Given the description of an element on the screen output the (x, y) to click on. 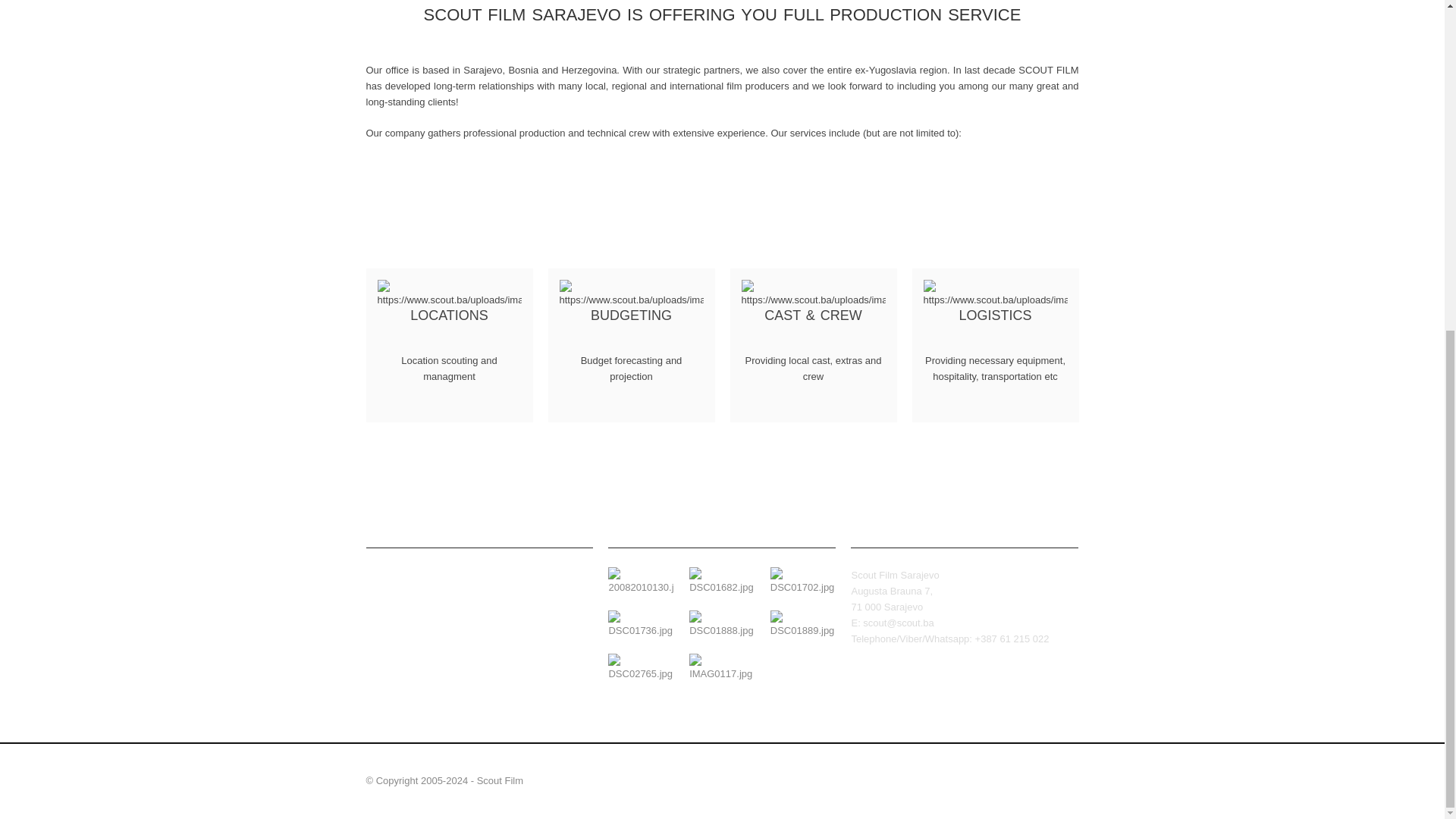
RSS (456, 583)
Twitter (375, 583)
Facebook (403, 583)
Pinterest (484, 583)
